Given the description of an element on the screen output the (x, y) to click on. 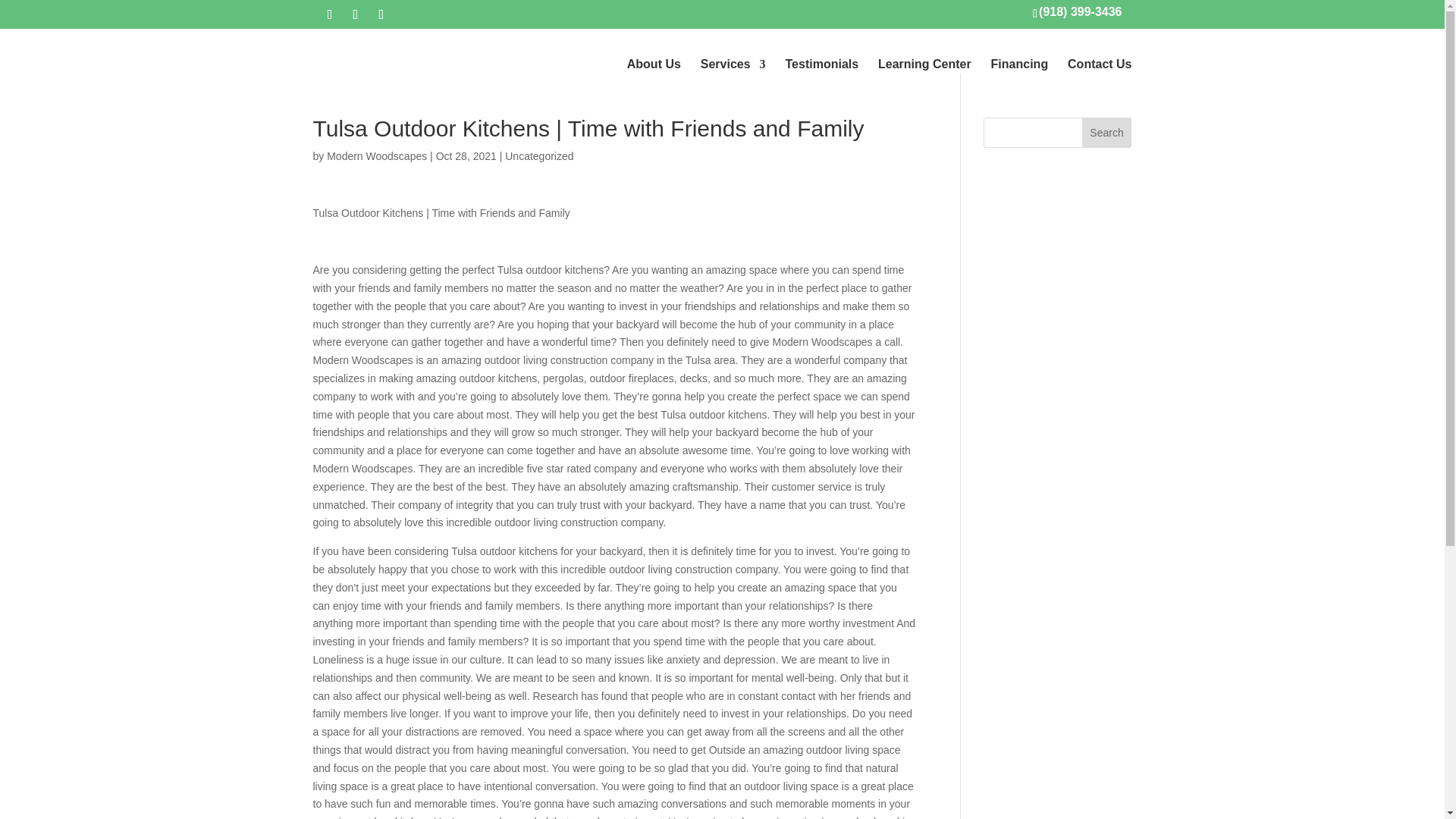
Posts by Modern Woodscapes (376, 155)
Testimonials (822, 63)
Financing (1019, 63)
Search (1106, 132)
Learning Center (924, 63)
Services (732, 63)
About Us (654, 63)
Modern Woodscapes (376, 155)
Search (1106, 132)
Contact Us (1099, 63)
